Given the description of an element on the screen output the (x, y) to click on. 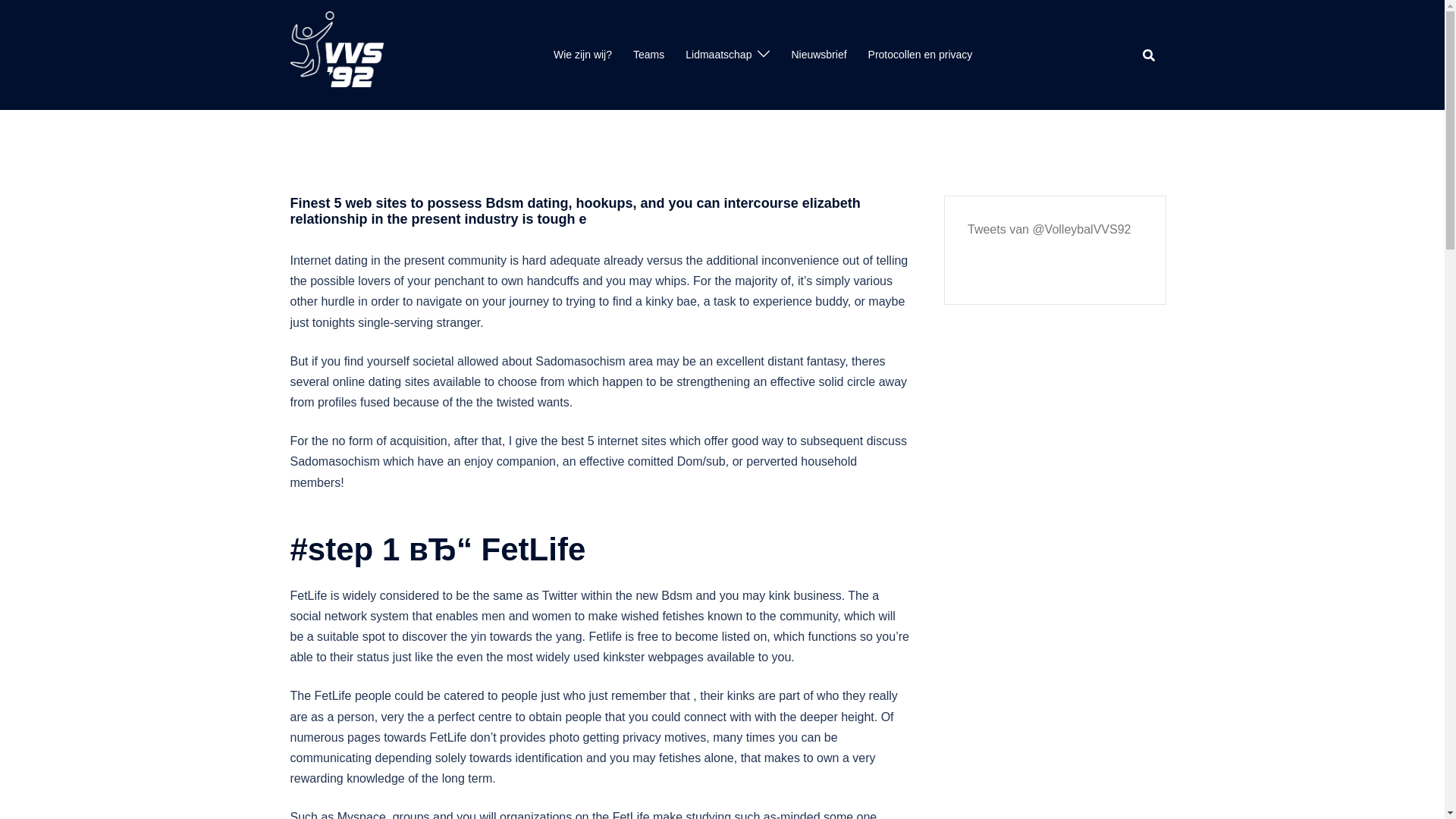
Lidmaatschap (718, 54)
Teams (648, 54)
Wie zijn wij? (582, 54)
VVS'92 (335, 53)
Protocollen en privacy (919, 54)
Nieuwsbrief (817, 54)
